Given the description of an element on the screen output the (x, y) to click on. 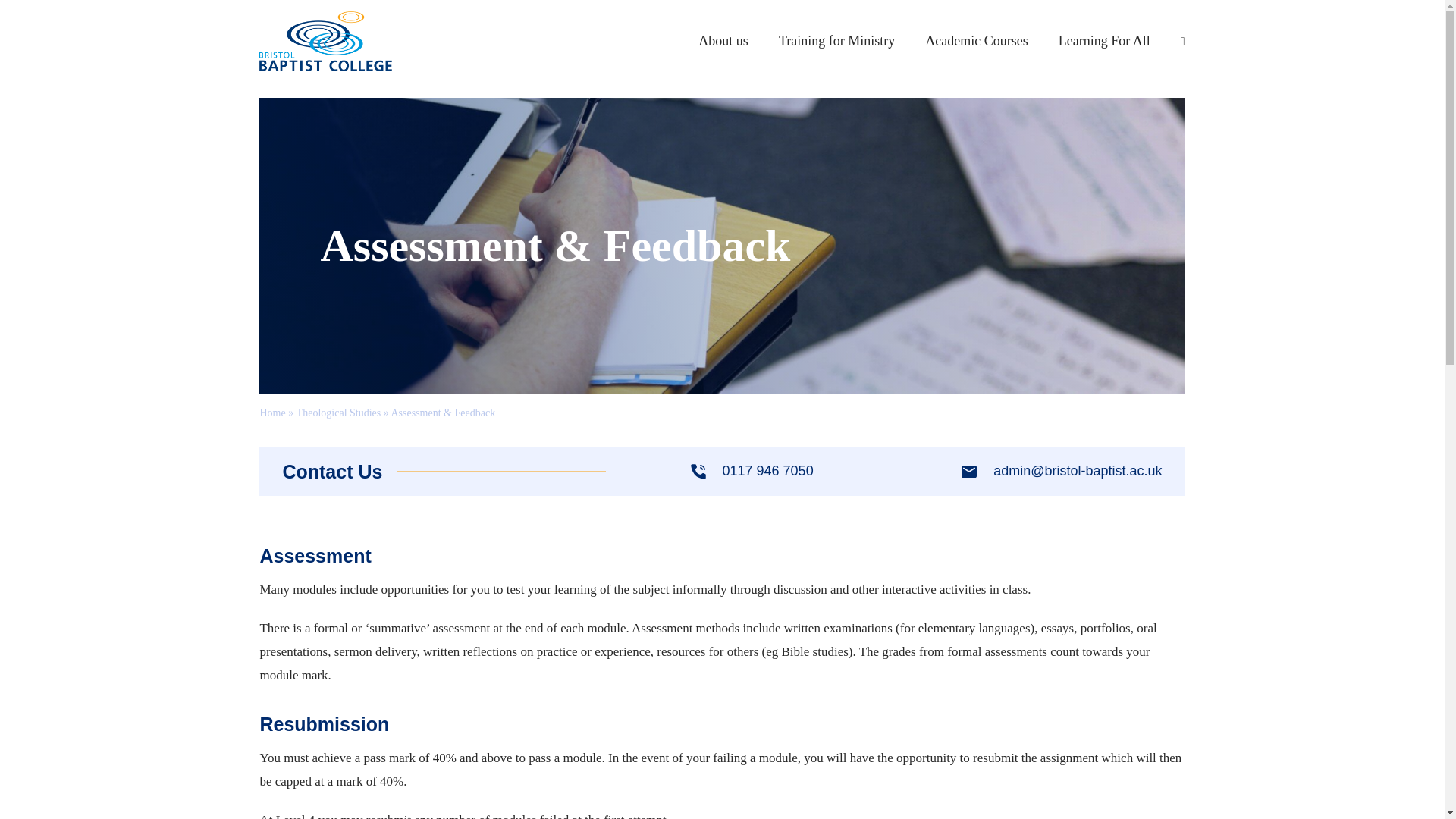
Academic Courses (975, 40)
Training for Ministry (836, 40)
About us (723, 40)
Learning For All (1104, 40)
